Given the description of an element on the screen output the (x, y) to click on. 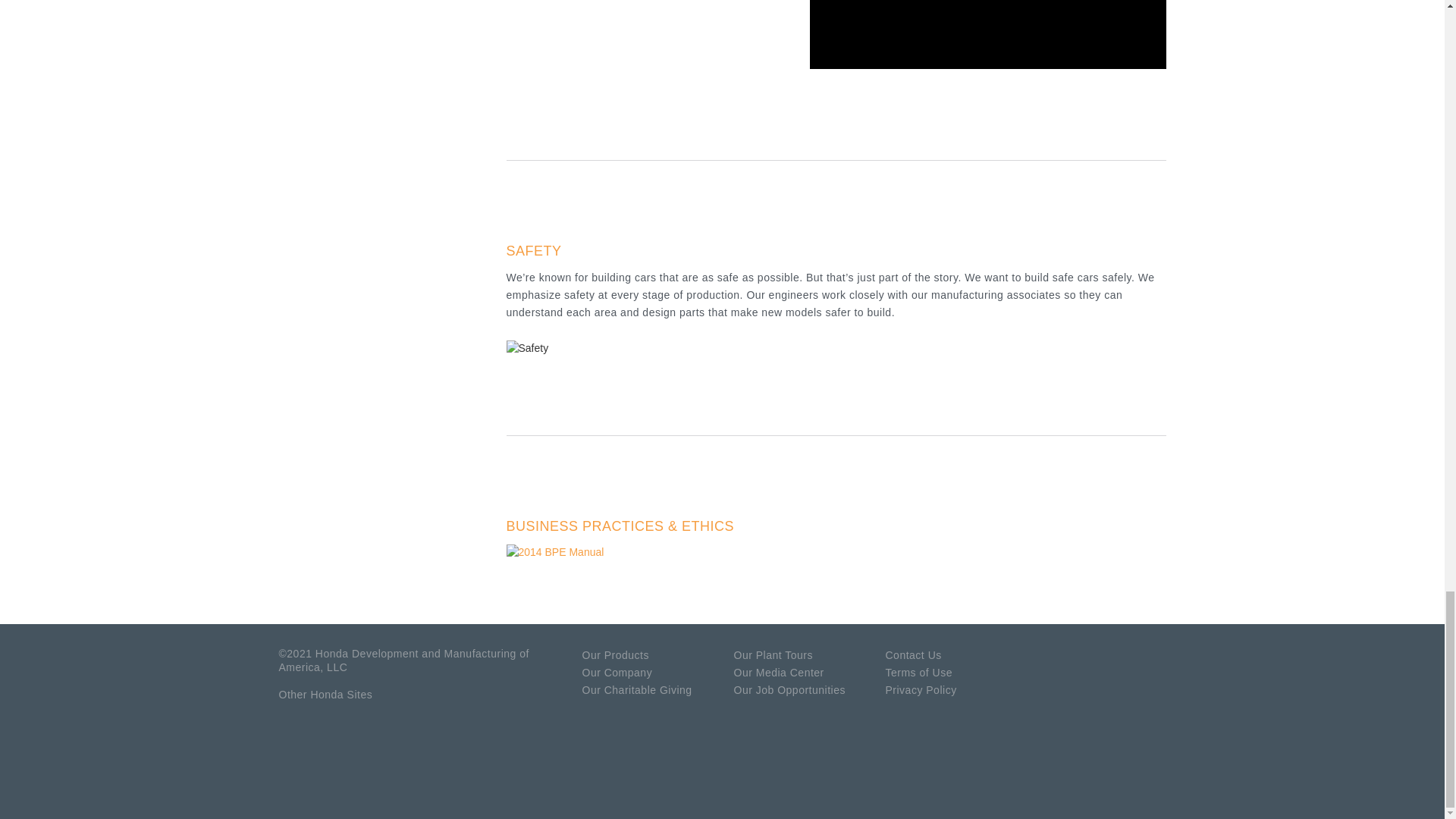
Terms of Use (918, 672)
Our Products (615, 654)
Our Media Center (778, 672)
Our Job Opportunities (789, 689)
Contact Us (913, 654)
Twitter (1146, 658)
YouTube (1114, 658)
Other Honda Sites (325, 694)
Our Charitable Giving (637, 689)
Our Company (617, 672)
